Given the description of an element on the screen output the (x, y) to click on. 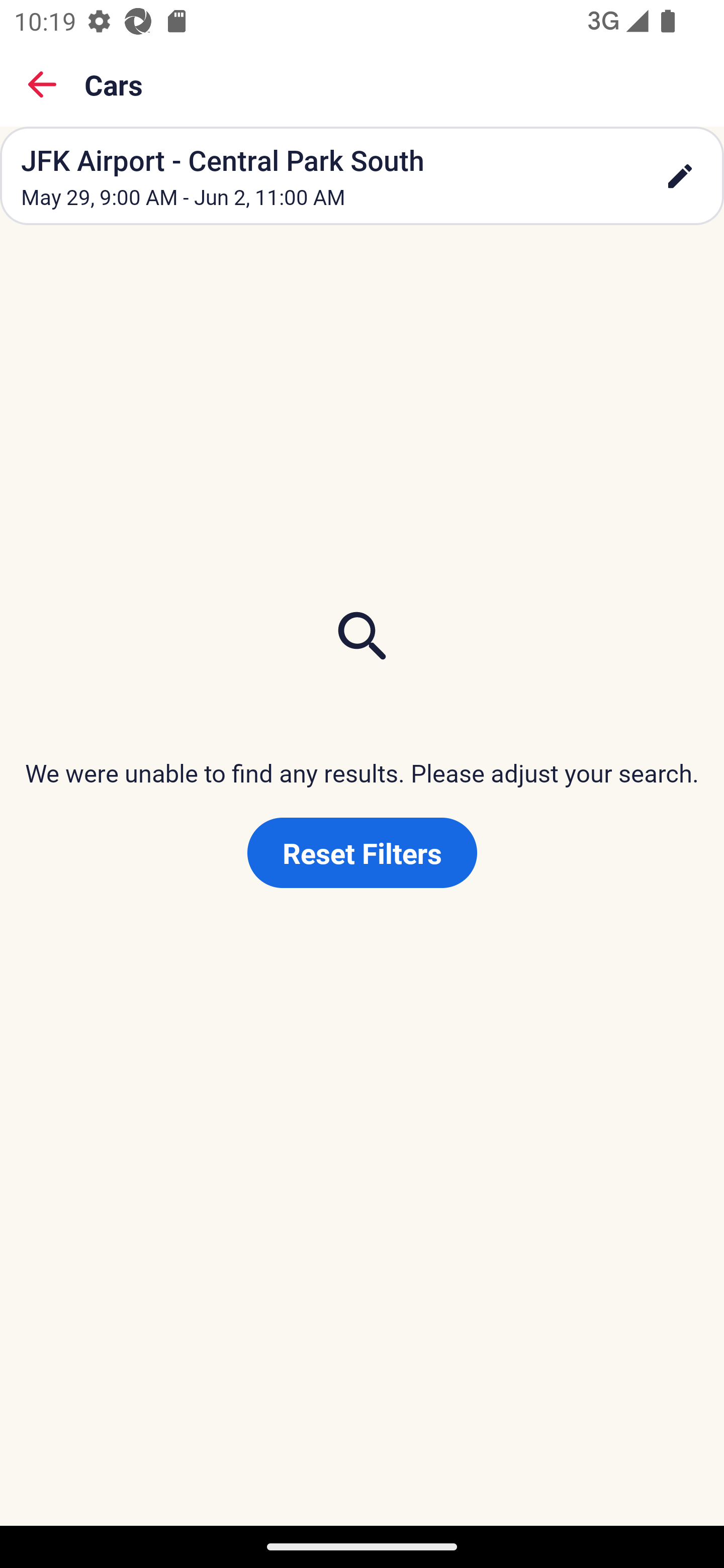
Back (42, 84)
edit (679, 175)
Reset Filters (362, 852)
